Given the description of an element on the screen output the (x, y) to click on. 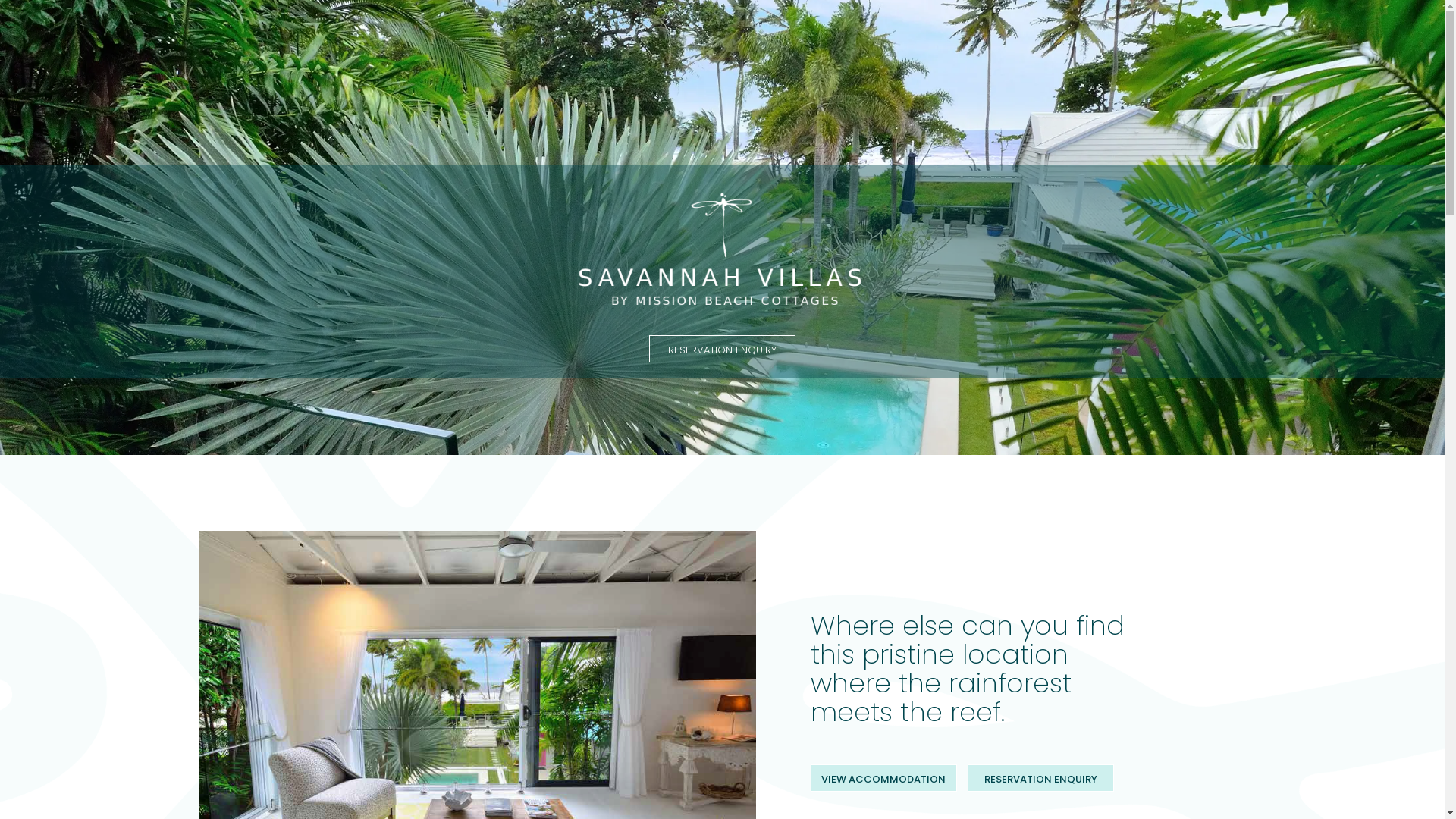
RESERVATION ENQUIRY Element type: text (1040, 777)
VIEW ACCOMMODATION Element type: text (882, 777)
RESERVATION ENQUIRY Element type: text (722, 348)
